Given the description of an element on the screen output the (x, y) to click on. 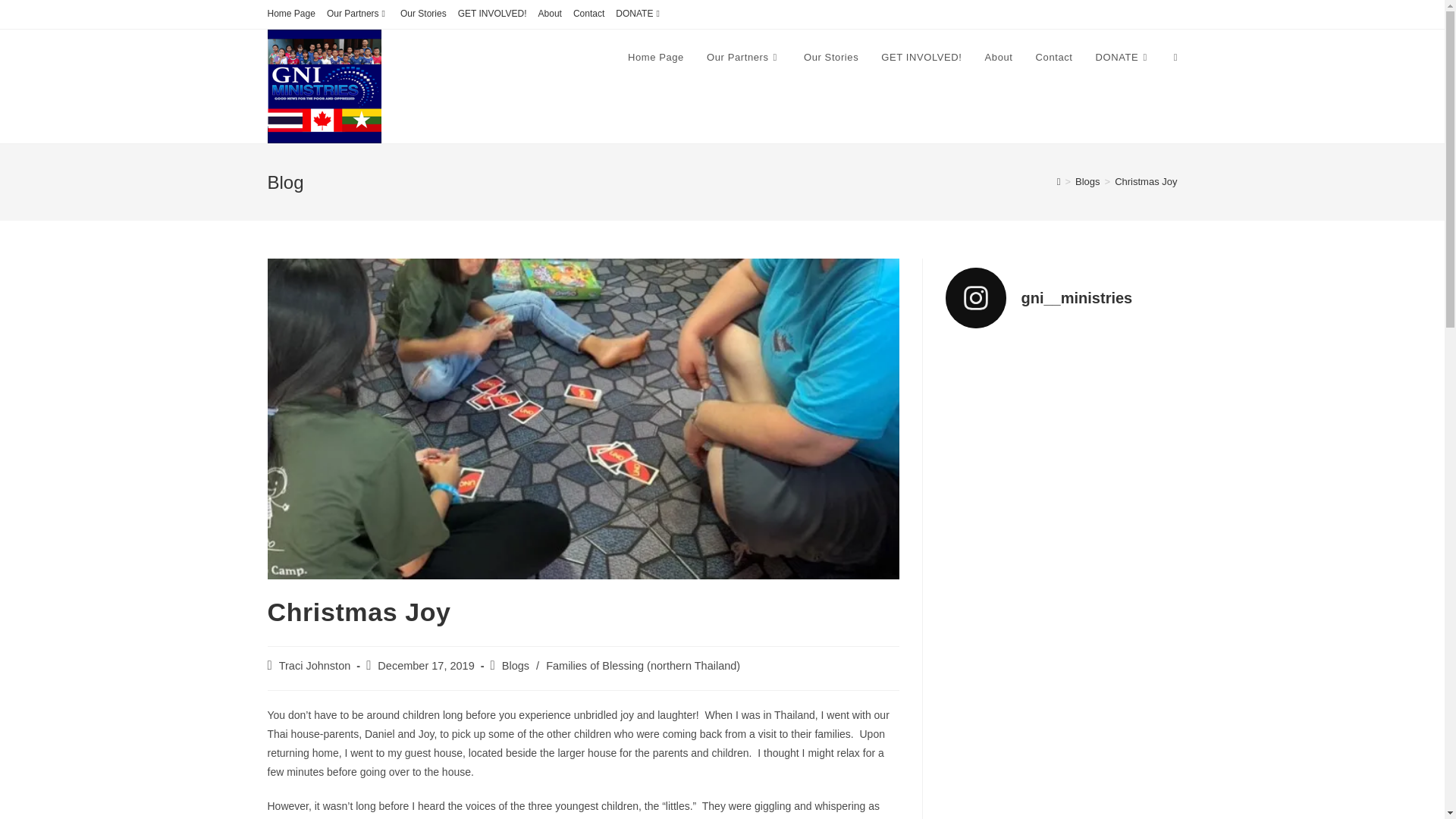
DONATE (639, 13)
Our Stories (830, 57)
GET INVOLVED! (492, 13)
About (999, 57)
Contact (1054, 57)
Home Page (290, 13)
International Partners (357, 13)
Our Partners (357, 13)
Contact (588, 13)
About (550, 13)
